Given the description of an element on the screen output the (x, y) to click on. 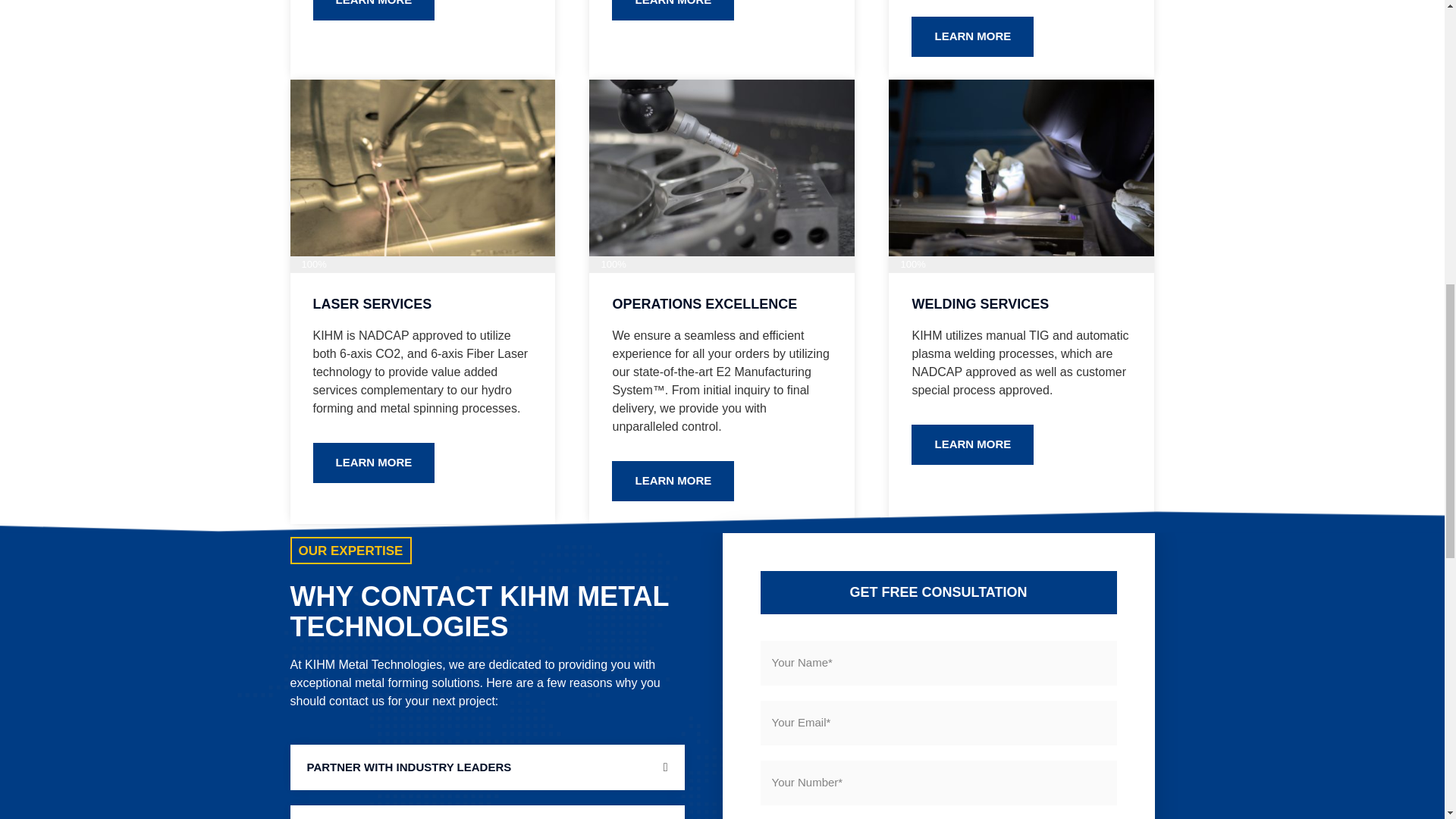
LEARN MORE (972, 36)
LASER SERVICES (371, 304)
diagnostics (721, 167)
LEARN MORE (373, 463)
LEARN MORE (672, 10)
welding (1021, 167)
OPERATIONS EXCELLENCE (703, 304)
laser (421, 167)
LEARN MORE (373, 10)
